Given the description of an element on the screen output the (x, y) to click on. 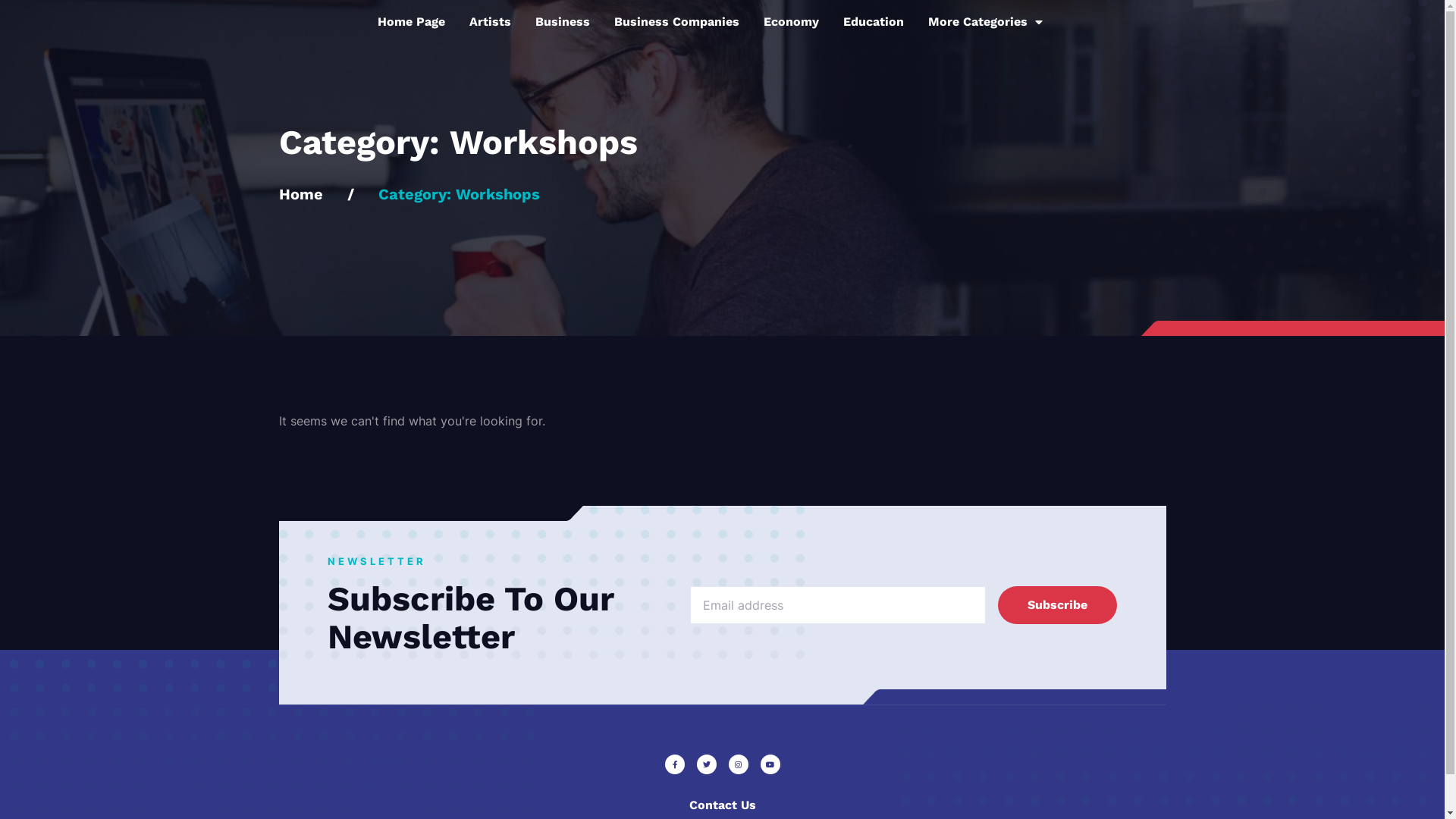
Home Page Element type: text (411, 21)
Category: Workshops Element type: text (458, 194)
Economy Element type: text (791, 21)
Home Element type: text (301, 194)
Business Companies Element type: text (676, 21)
Subscribe Element type: text (1057, 605)
More Categories Element type: text (985, 21)
Business Element type: text (562, 21)
Artists Element type: text (490, 21)
Education Element type: text (873, 21)
